Given the description of an element on the screen output the (x, y) to click on. 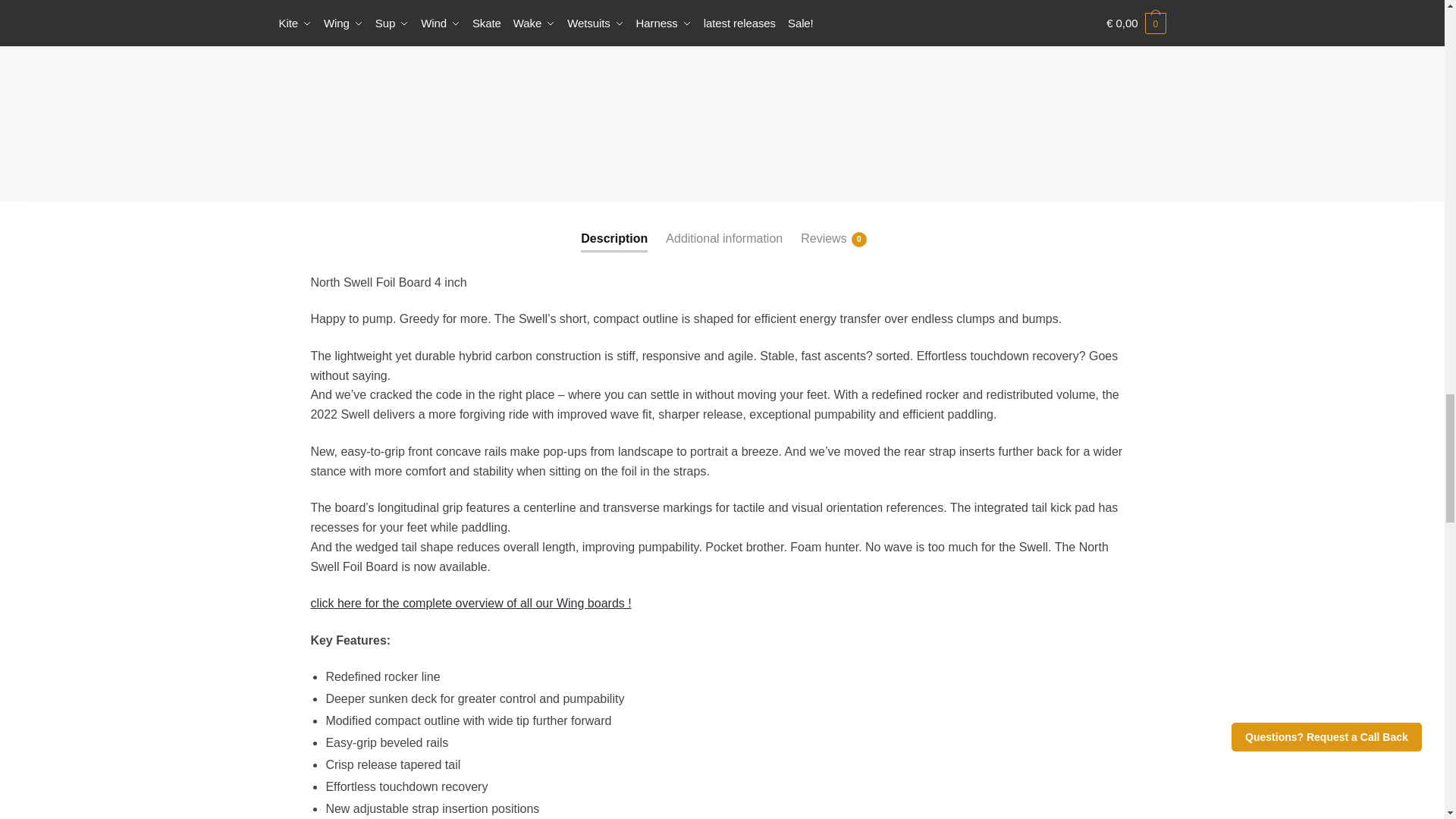
click to zoom-in (581, 89)
